Given the description of an element on the screen output the (x, y) to click on. 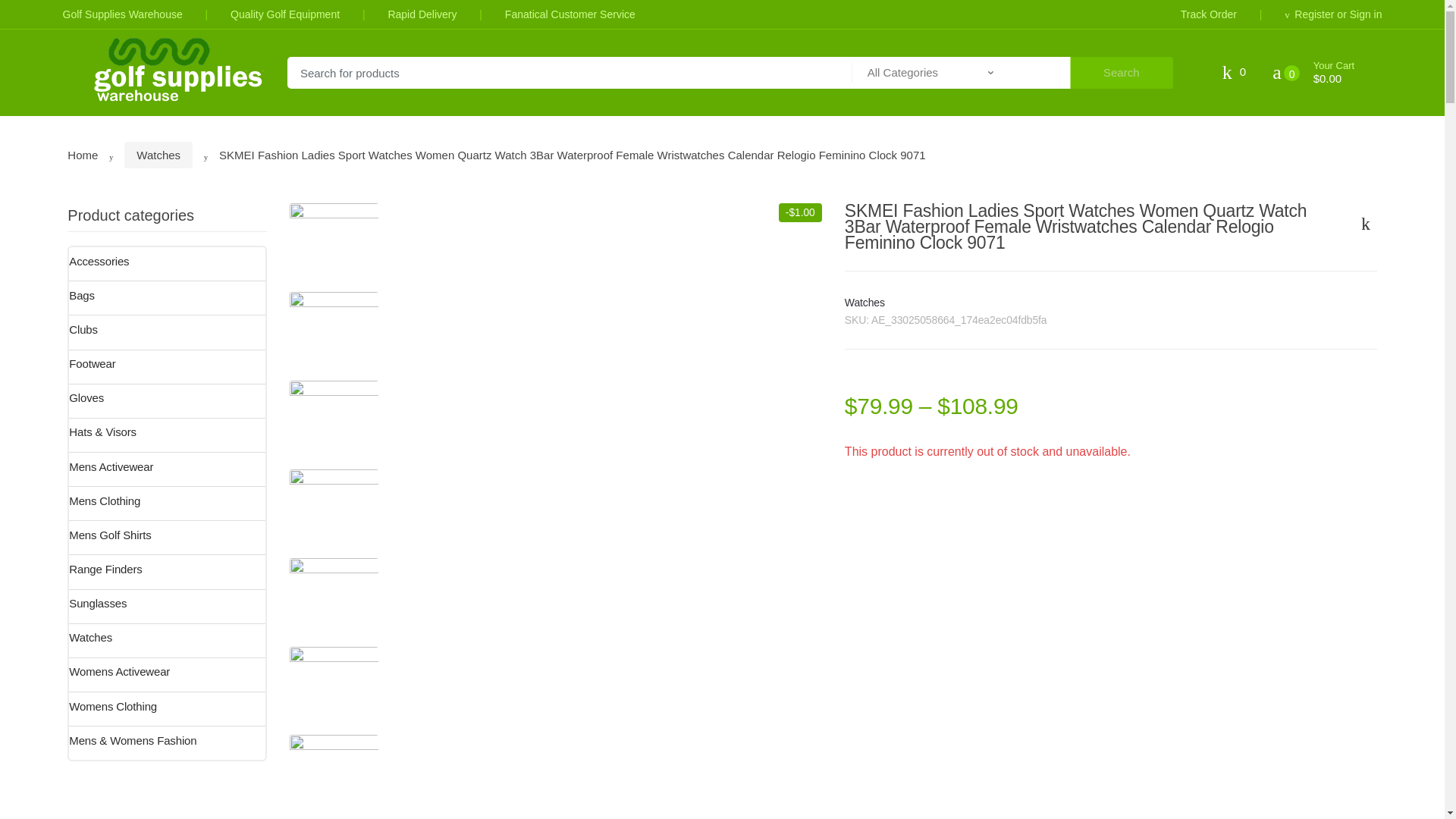
Register or Sign in (1308, 14)
Track Order (1208, 14)
Golf Supplies Warehouse (122, 14)
Rapid Delivery (398, 14)
Track Order (1208, 14)
Register or Sign in (1308, 14)
Search (1121, 72)
Golf Supplies Warehouse (122, 14)
Fanatical Customer Service (545, 14)
Quality Golf Equipment (261, 14)
